Given the description of an element on the screen output the (x, y) to click on. 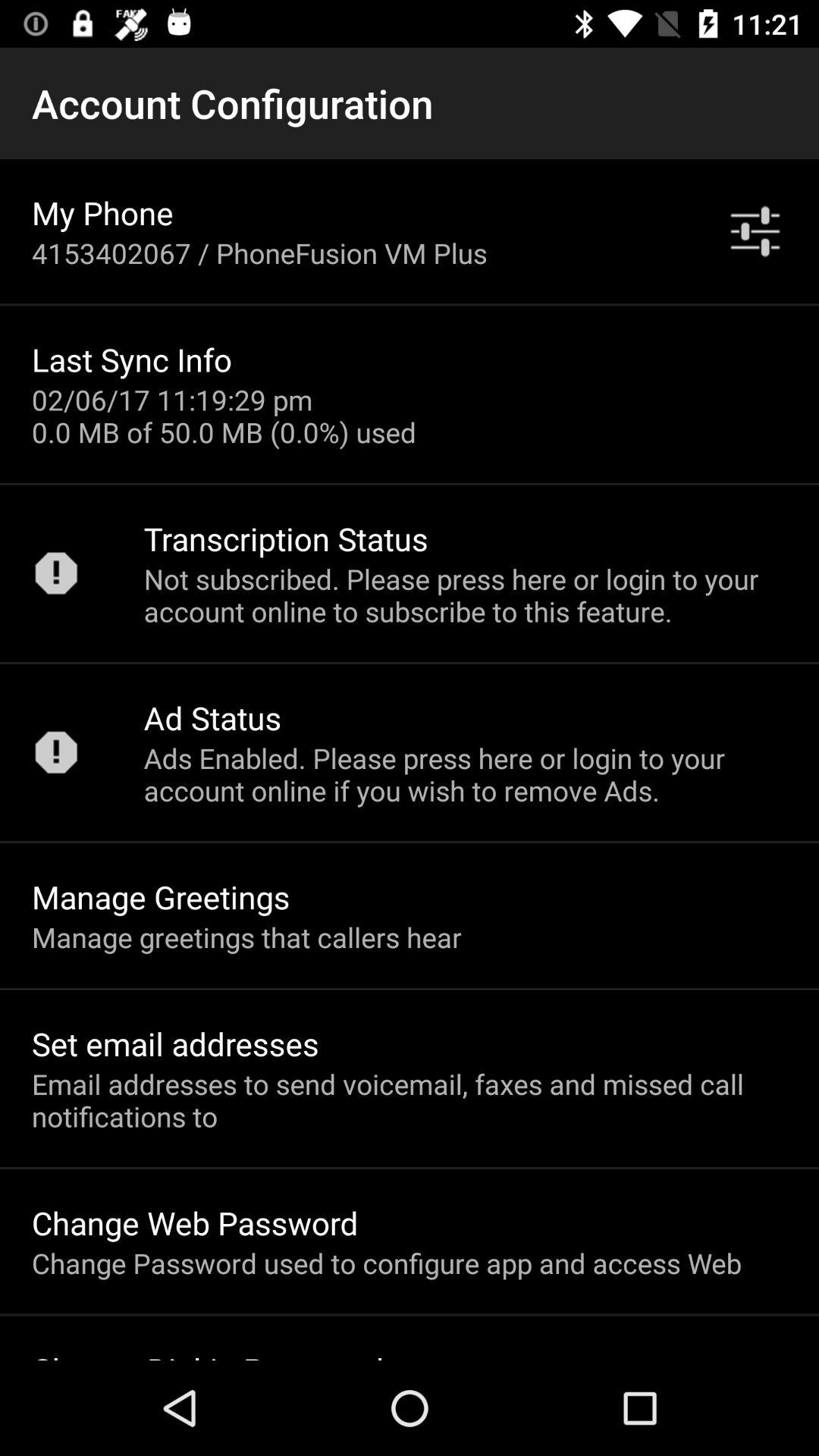
turn on the app below ad status app (465, 774)
